Given the description of an element on the screen output the (x, y) to click on. 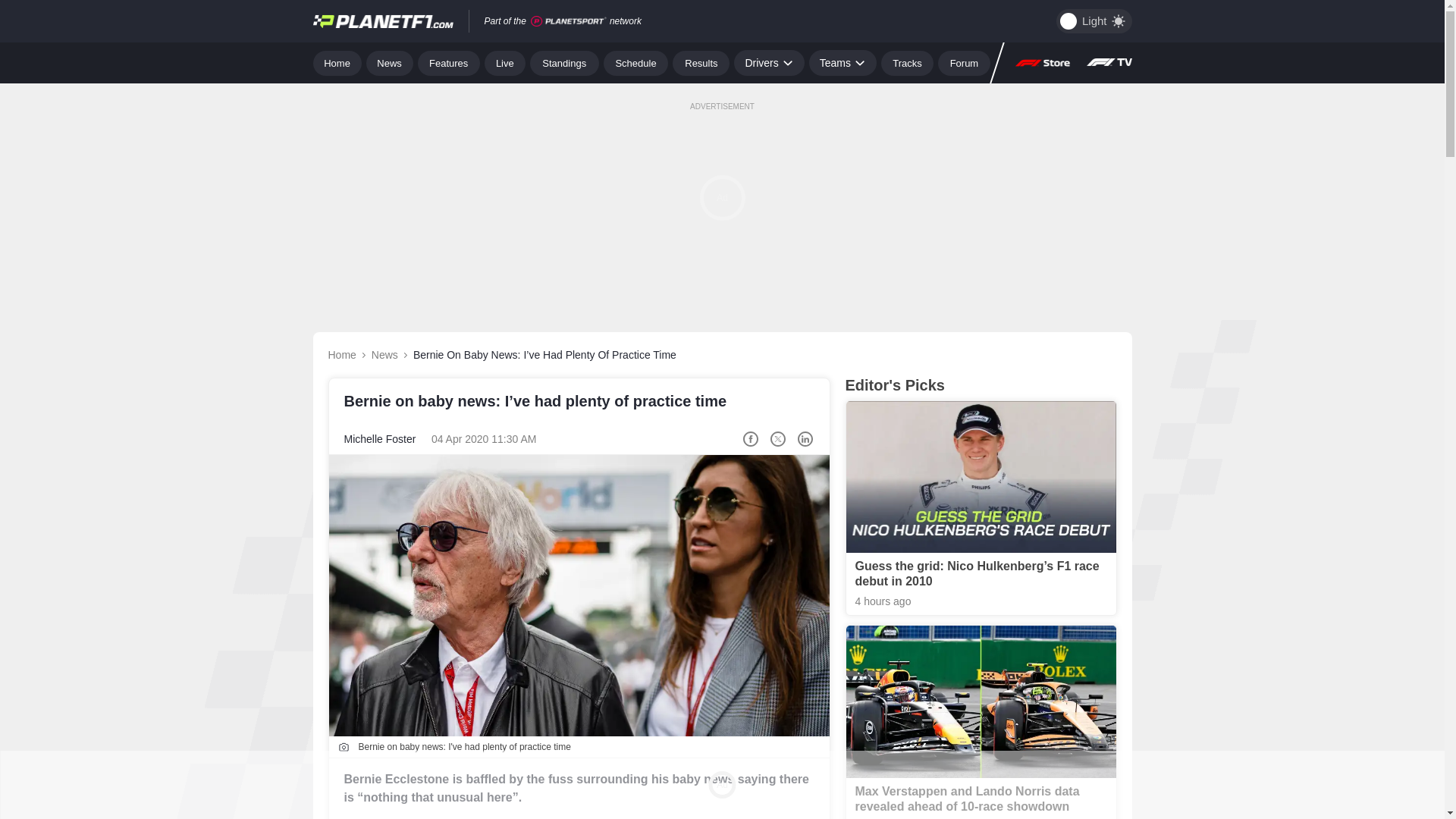
Features (448, 62)
Home (337, 62)
Results (700, 62)
Live (504, 62)
Schedule (636, 62)
Drivers (768, 62)
Teams (842, 62)
News (389, 62)
Standings (563, 62)
